Given the description of an element on the screen output the (x, y) to click on. 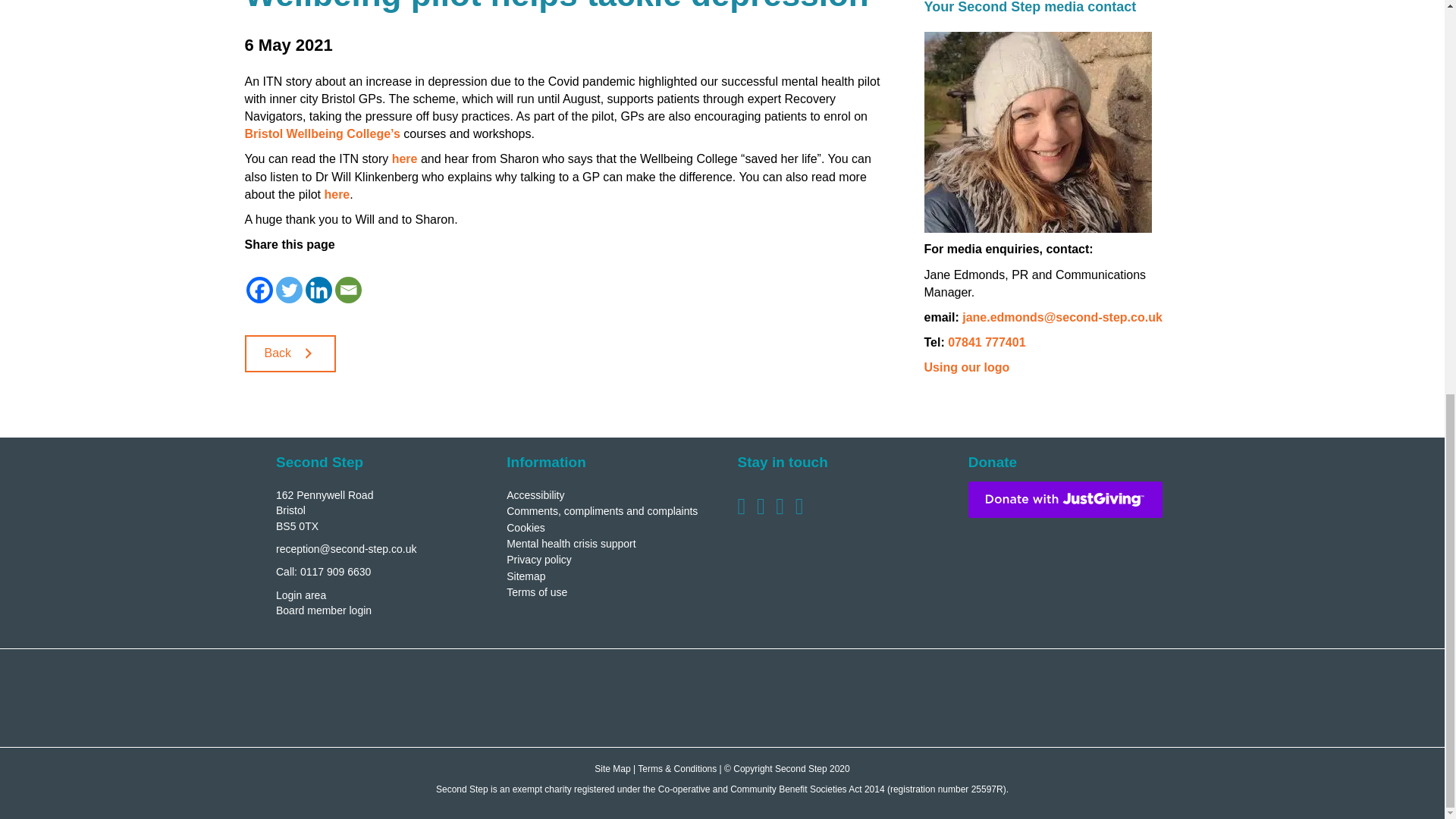
mindful-employer (624, 698)
investing-in-volunteers (1012, 698)
we-invest-in-people-standard-white (818, 699)
here (336, 194)
here (404, 158)
HL Member - white (431, 698)
